Given the description of an element on the screen output the (x, y) to click on. 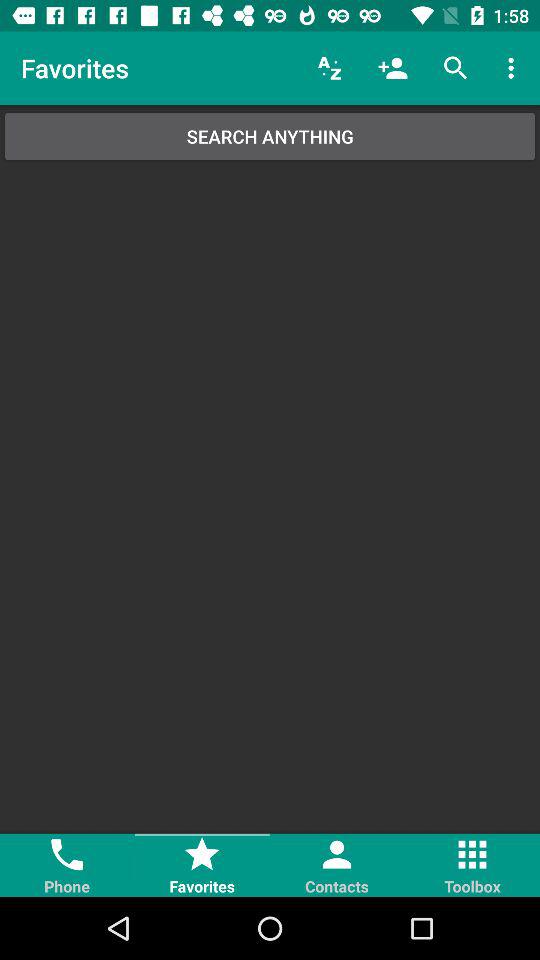
turn off item above the search anything icon (329, 67)
